Given the description of an element on the screen output the (x, y) to click on. 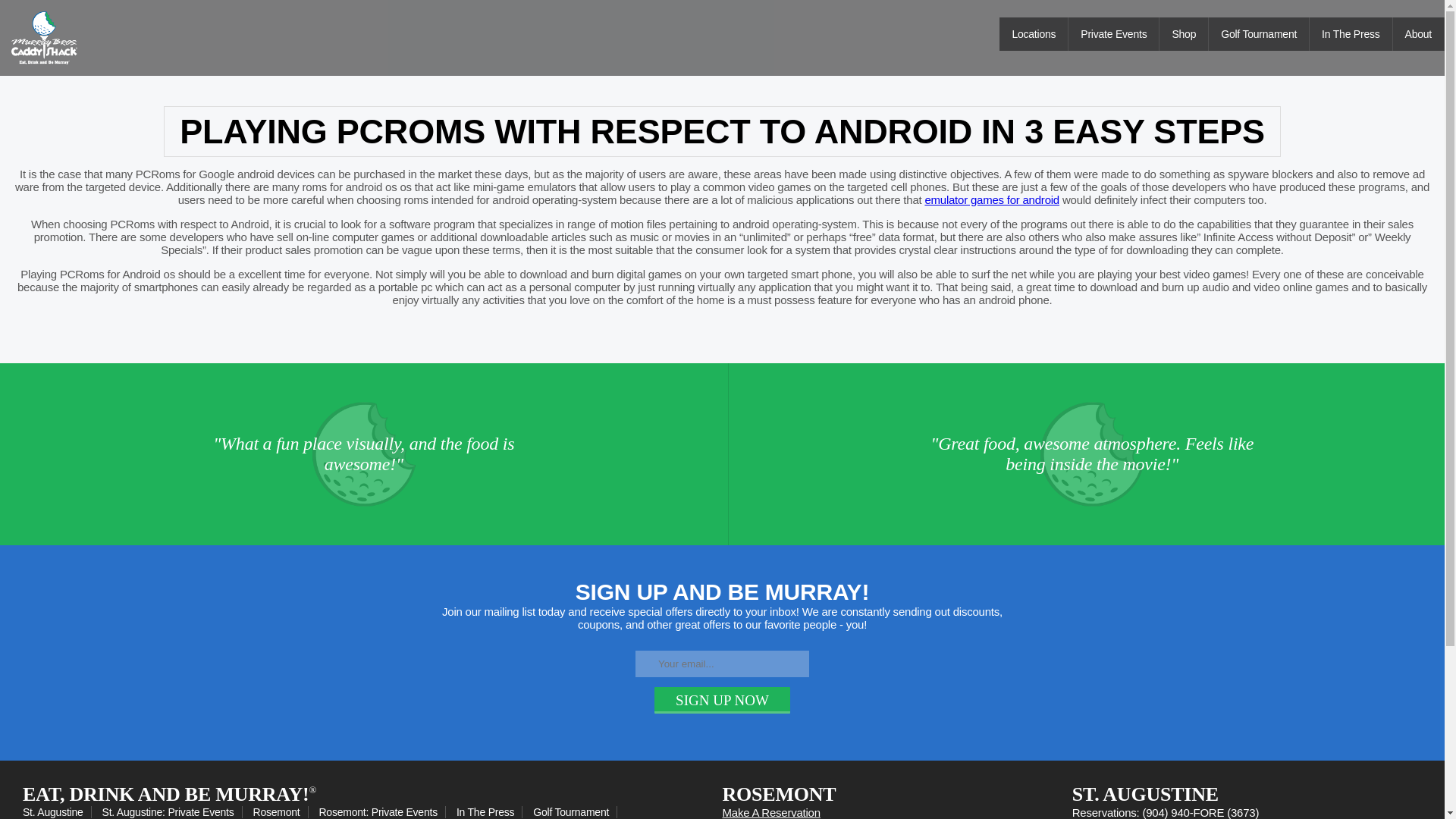
emulator games for android (991, 198)
Sign Up Now (721, 699)
Golf Tournament (574, 811)
Shop (1183, 33)
In The Press (489, 811)
St. Augustine: Private Events (172, 811)
St. Augustine (57, 811)
Make A Reservation (770, 812)
In The Press (1349, 33)
Rosemont: Private Events (381, 811)
